Given the description of an element on the screen output the (x, y) to click on. 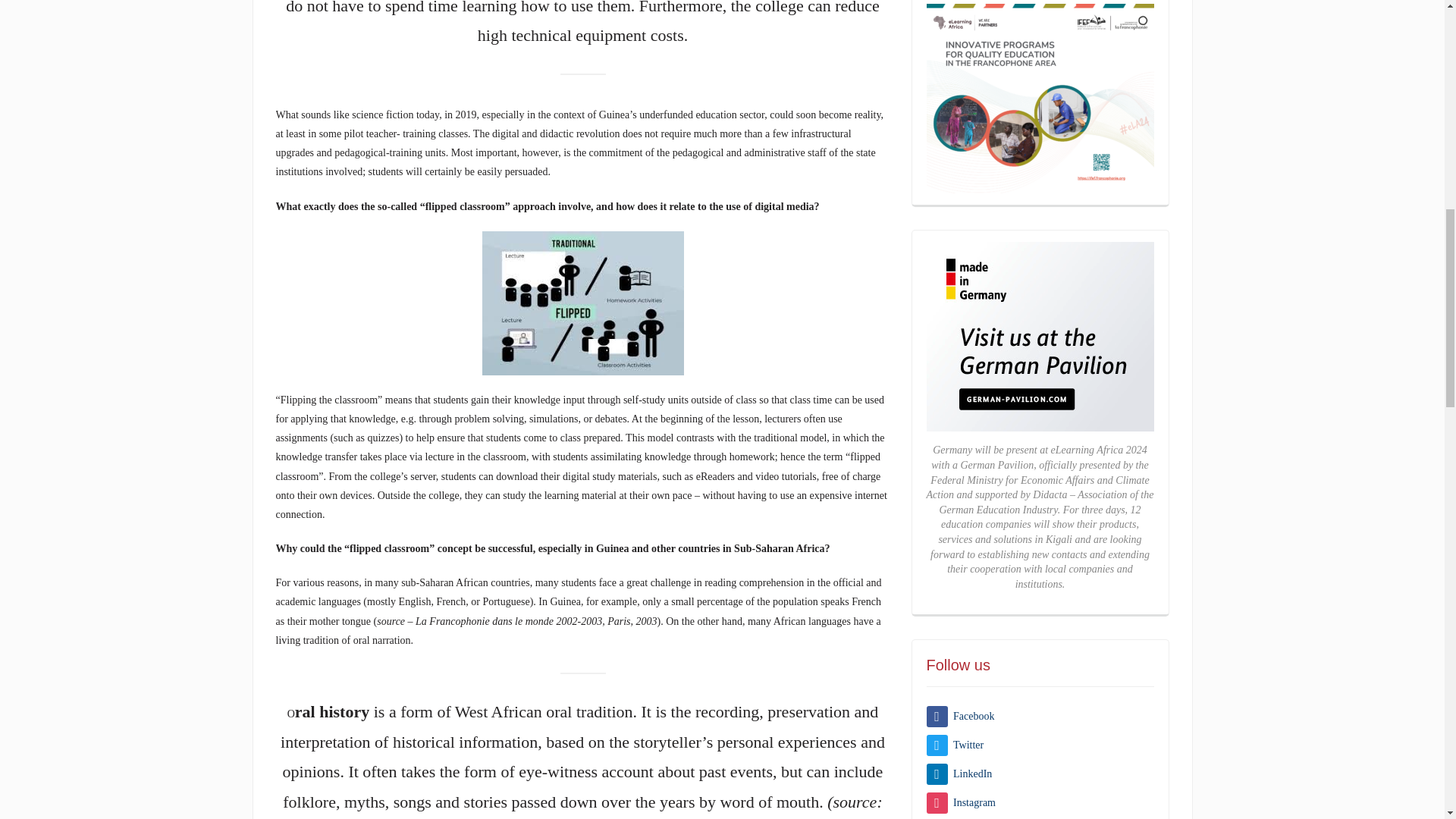
Facebook (960, 715)
LinkedIn (959, 773)
Instagram (960, 802)
Twitter (955, 745)
